Given the description of an element on the screen output the (x, y) to click on. 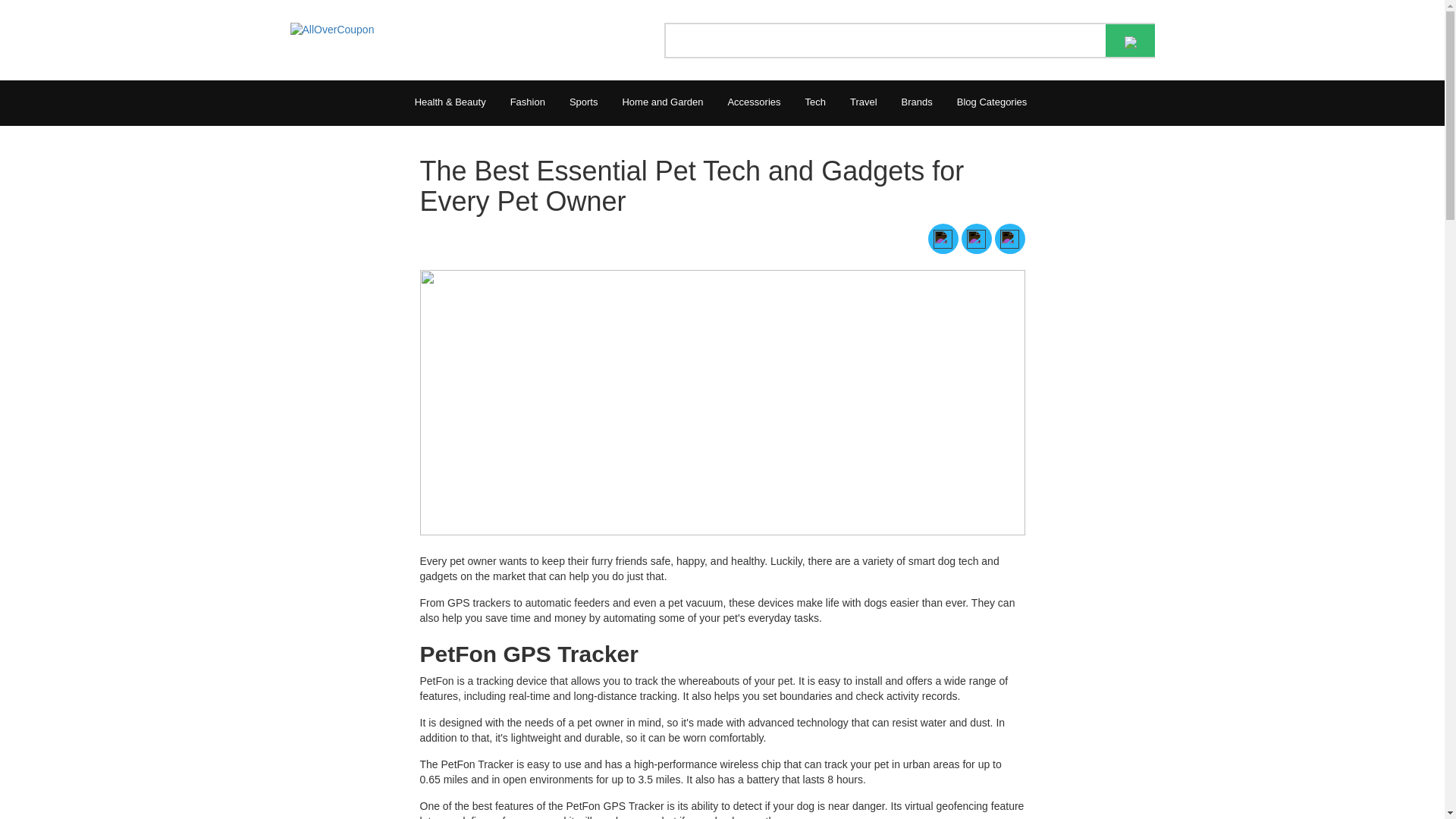
Fashion (527, 103)
Tech (814, 103)
Home and Garden (662, 103)
Sports (583, 103)
Travel (864, 103)
Brands (917, 103)
Blog Categories (992, 103)
Accessories (753, 103)
